Given the description of an element on the screen output the (x, y) to click on. 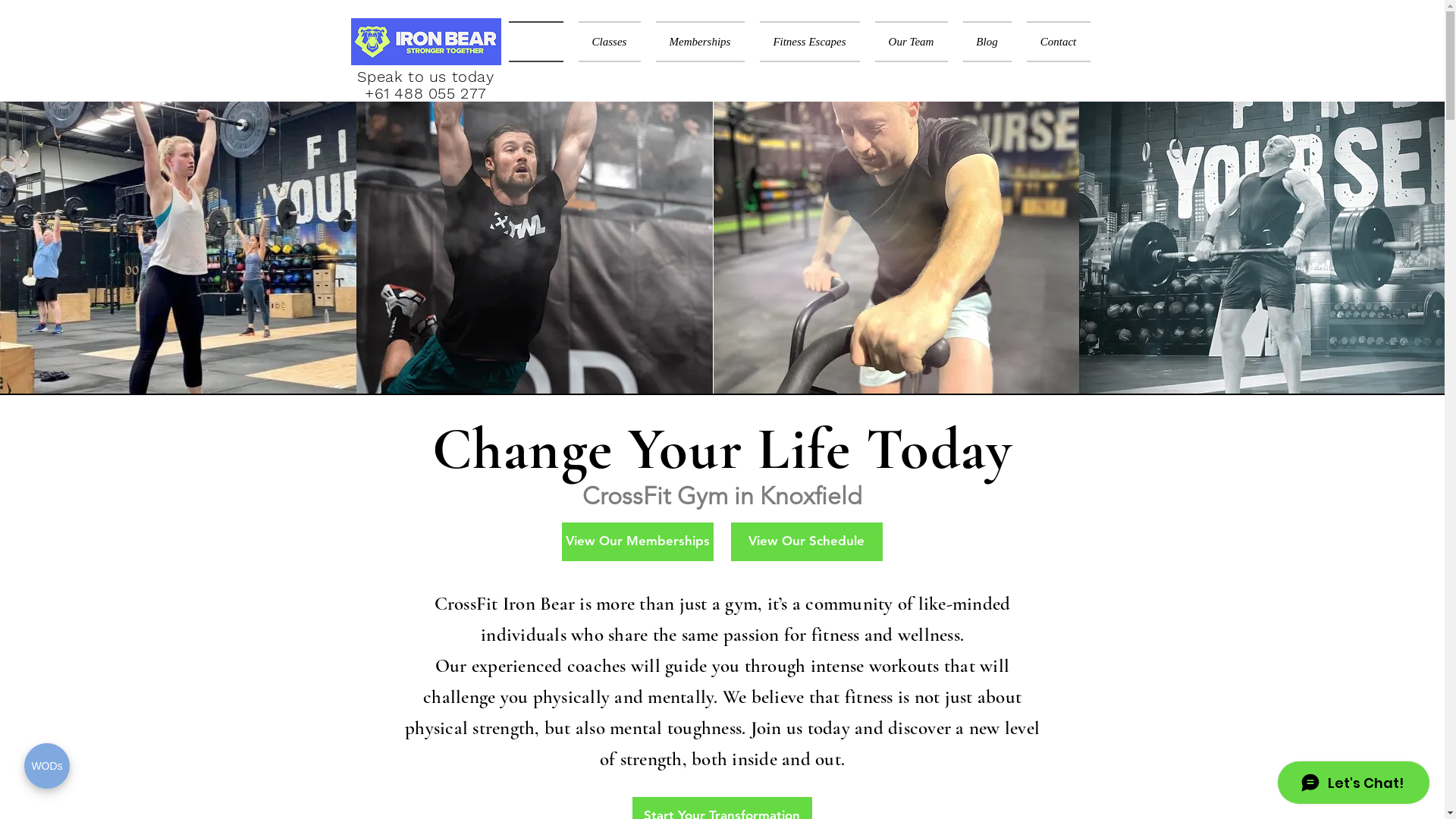
Blog Element type: text (987, 41)
View Our Schedule Element type: text (806, 541)
Memberships Element type: text (699, 41)
WOD's Element type: hover (184, 556)
Fitness Escapes Element type: text (809, 41)
Home Element type: text (539, 41)
View Our Memberships Element type: text (636, 541)
Classes Element type: text (608, 41)
Contact Element type: text (1054, 41)
Our Team Element type: text (911, 41)
